Given the description of an element on the screen output the (x, y) to click on. 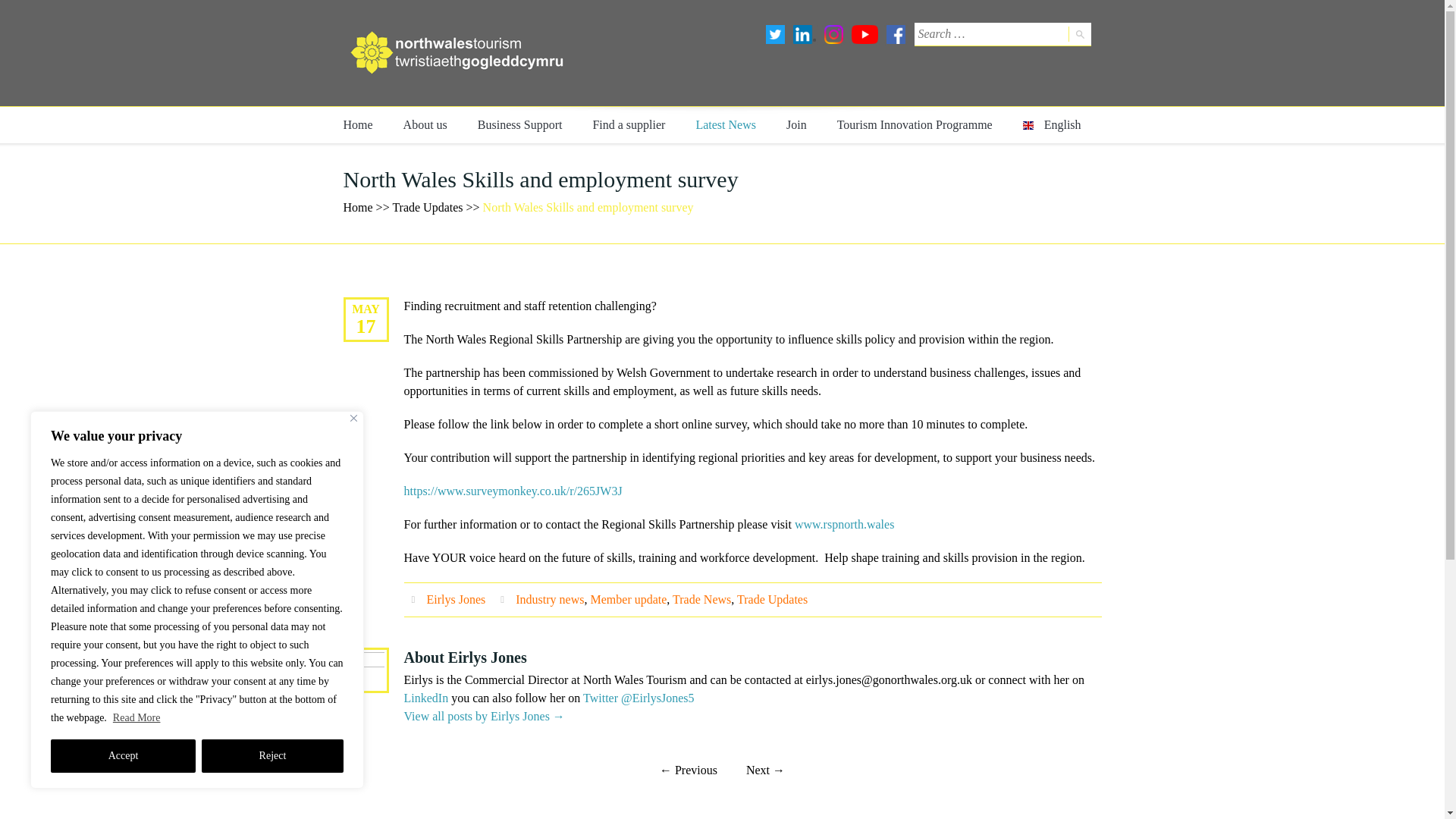
Trade Updates (427, 206)
About us (425, 125)
Business Support (520, 125)
Search for: (989, 33)
Home (357, 125)
North Wales Tourism (456, 52)
Link to daily archives: 17th May 2022 (366, 326)
Link to monthly archives: May 2022 (366, 307)
Read More (136, 717)
Search (1078, 33)
